Given the description of an element on the screen output the (x, y) to click on. 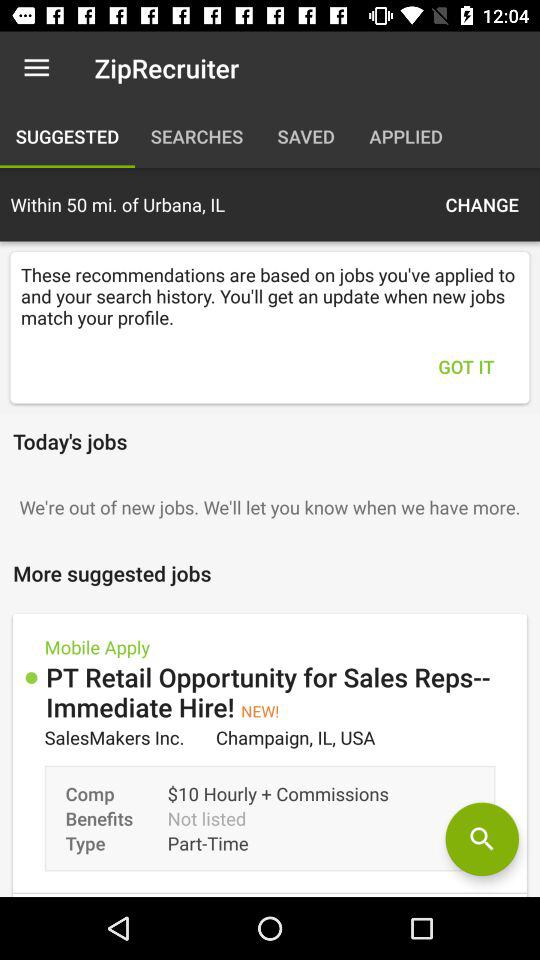
press the item next to the ziprecruiter item (36, 68)
